Given the description of an element on the screen output the (x, y) to click on. 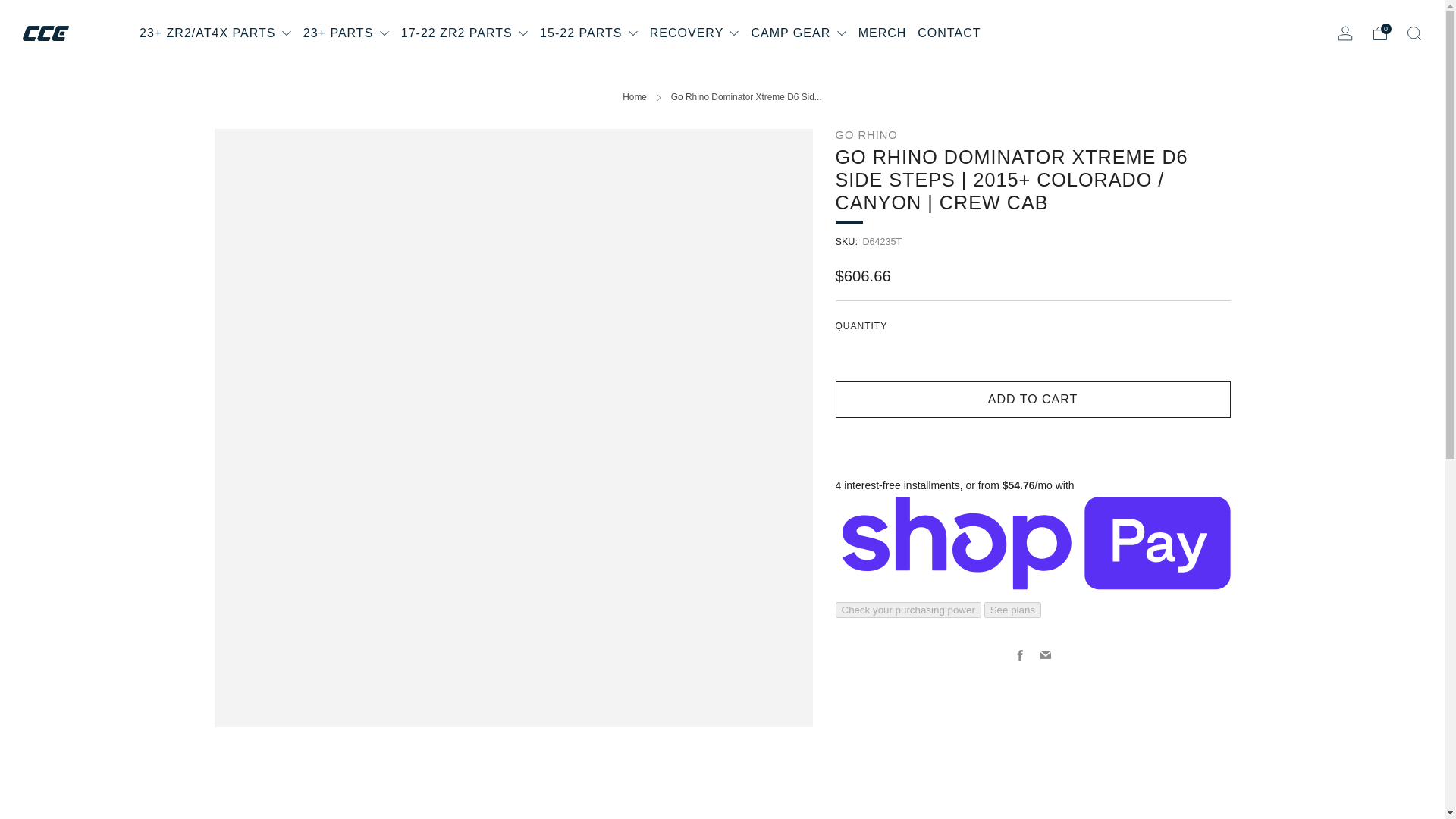
Go Rhino (866, 134)
Home (634, 96)
